Given the description of an element on the screen output the (x, y) to click on. 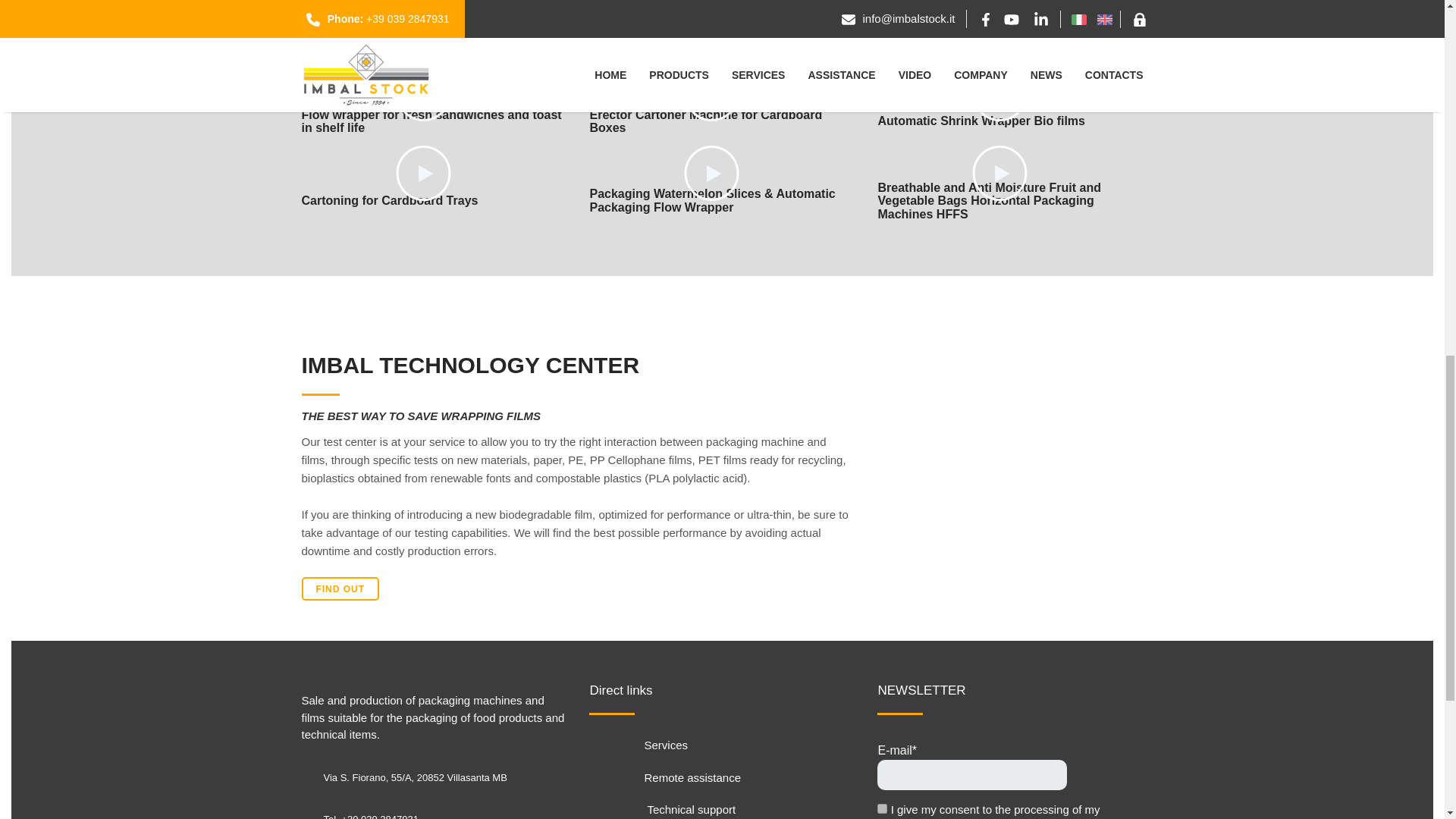
privacy (881, 808)
